Given the description of an element on the screen output the (x, y) to click on. 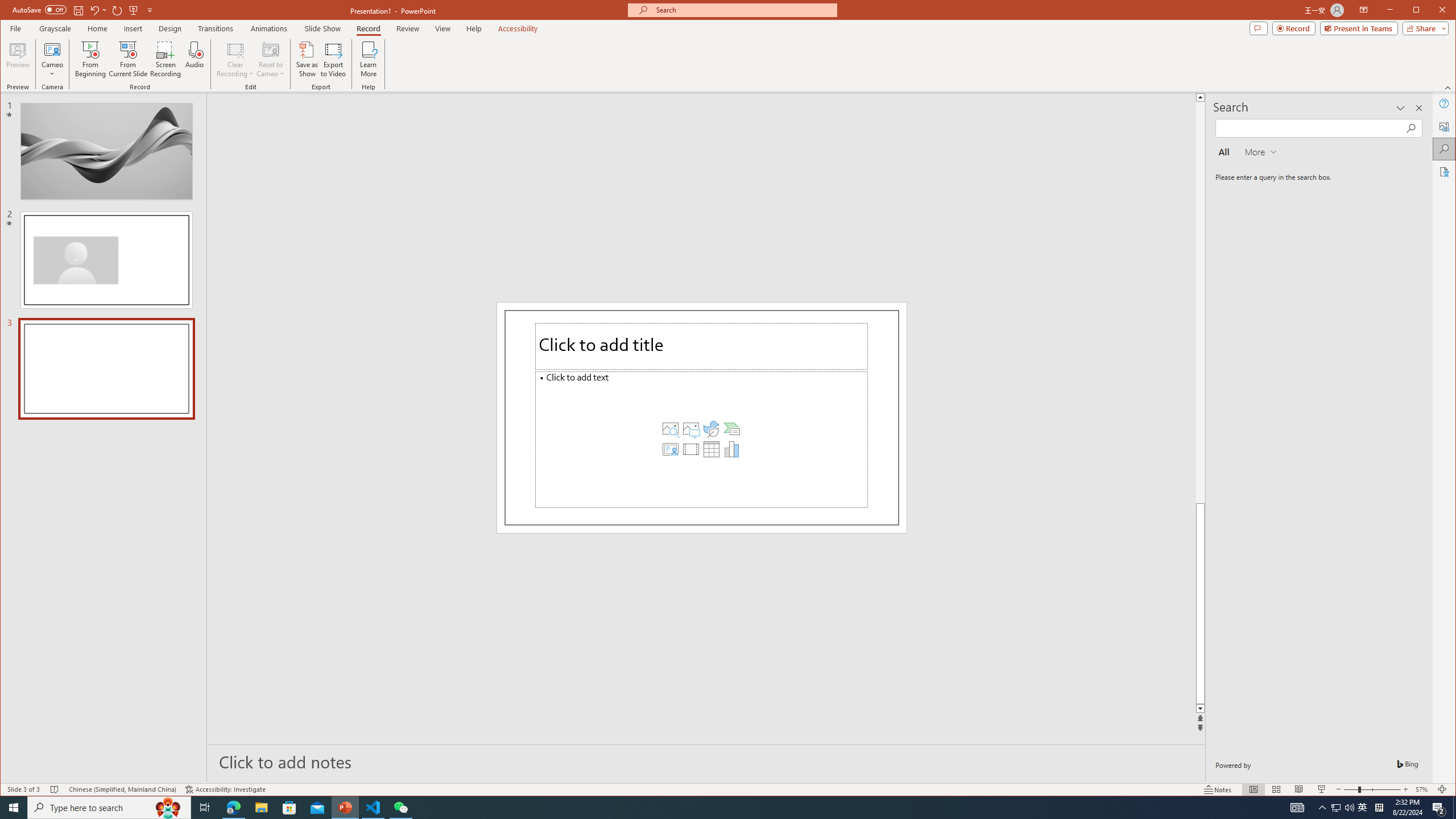
Insert Cameo (670, 449)
